Given the description of an element on the screen output the (x, y) to click on. 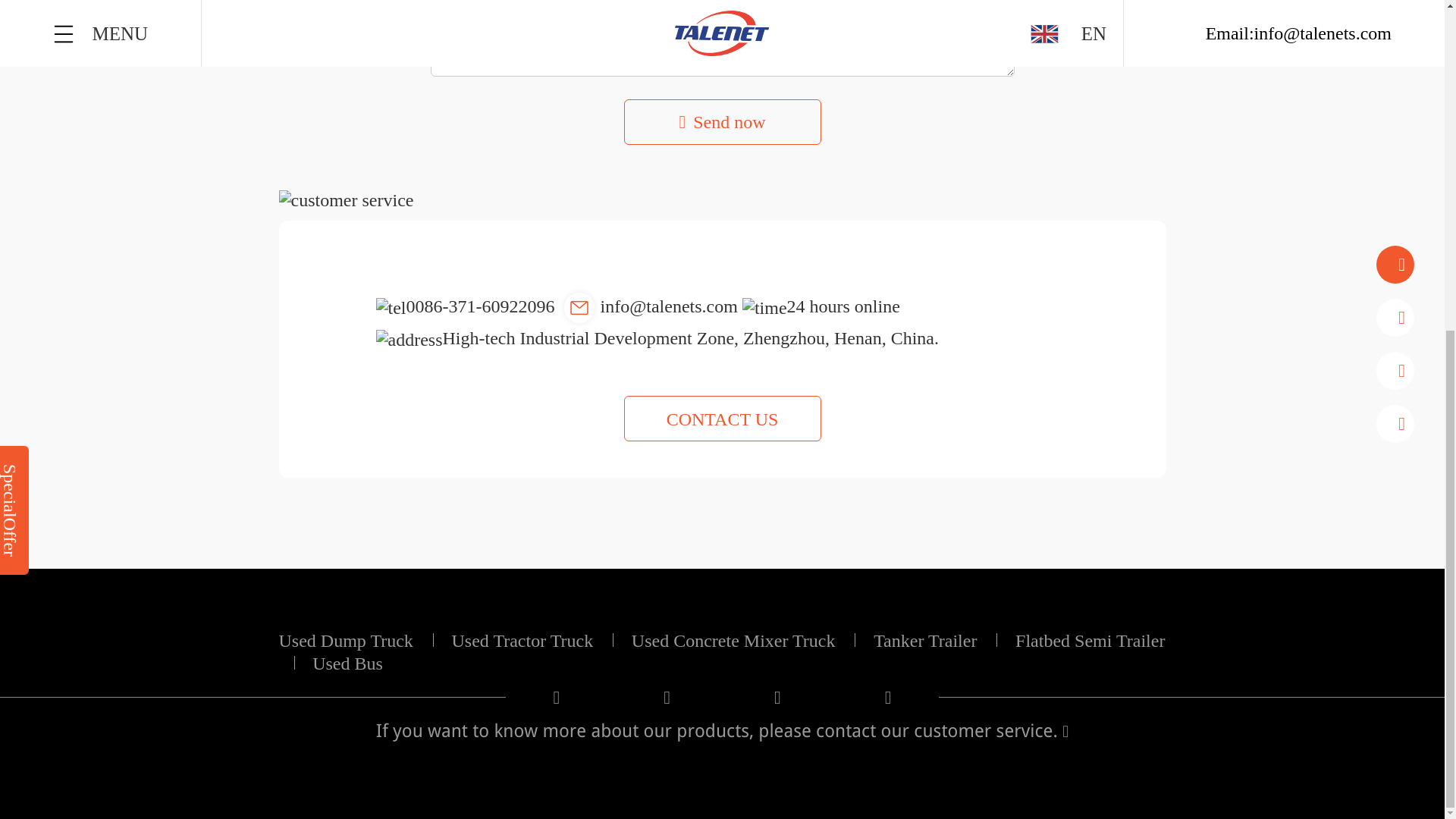
Used Bus (347, 663)
Send now (722, 121)
Flatbed Semi Trailer (722, 651)
Tanker Trailer (935, 640)
Used Tractor Truck (532, 640)
Used Dump Truck (356, 640)
Used Concrete Mixer Truck (743, 640)
CONTACT US (722, 418)
